Given the description of an element on the screen output the (x, y) to click on. 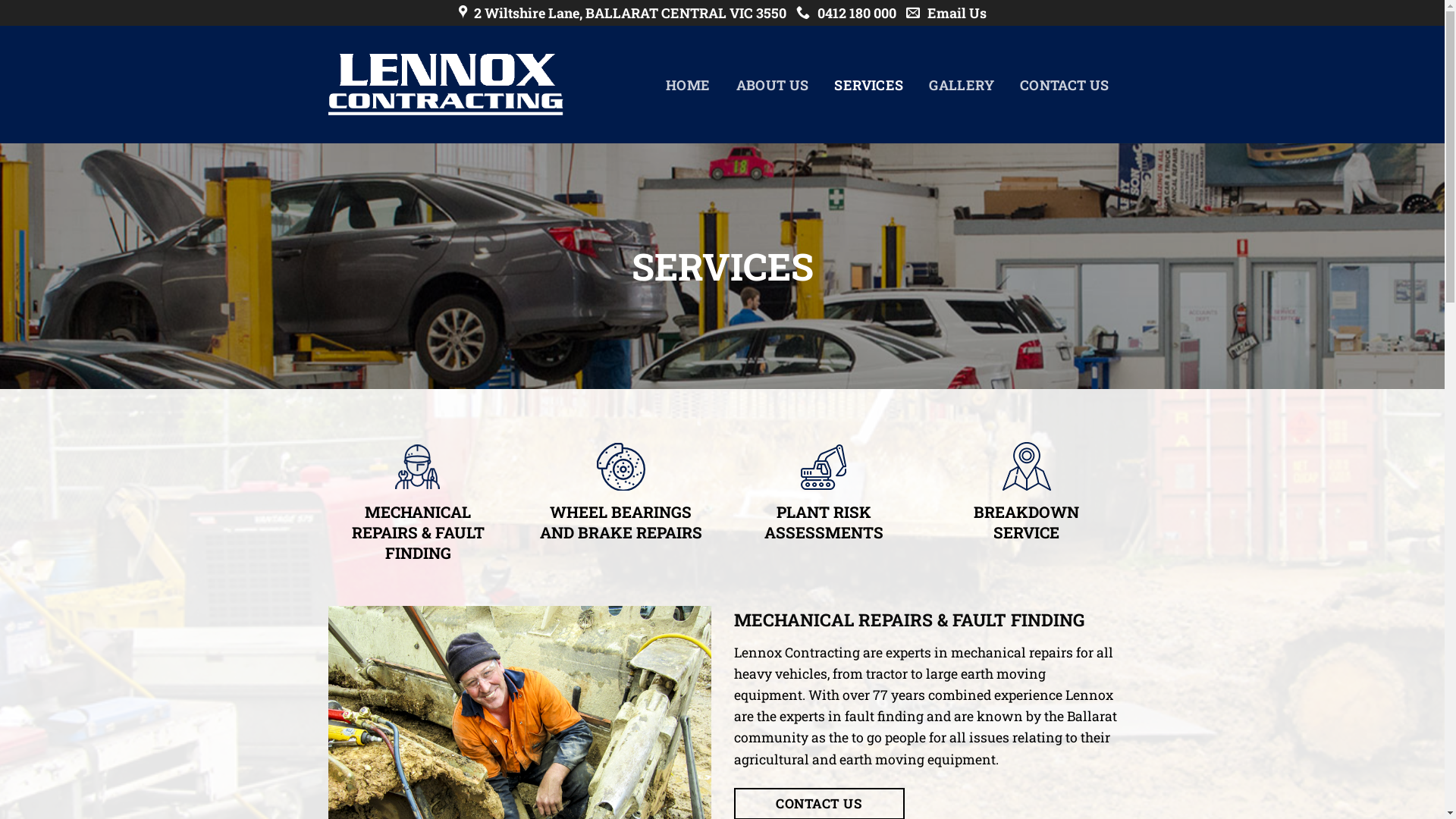
SERVICES Element type: text (868, 84)
MECHANICAL REPAIRS & FAULT FINDING Element type: text (417, 532)
CONTACT US Element type: text (1064, 84)
GALLERY Element type: text (961, 84)
2 Wiltshire Lane, BALLARAT CENTRAL VIC 3550 Element type: text (621, 12)
Skip to content Element type: text (0, 0)
BREAKDOWN SERVICE Element type: text (1026, 522)
PLANT RISK ASSESSMENTS Element type: text (823, 522)
Email Us Element type: text (945, 12)
Lennox Contracting Element type: hover (444, 84)
0412 180 000 Element type: text (846, 12)
ABOUT US Element type: text (772, 84)
HOME Element type: text (687, 84)
WHEEL BEARINGS AND BRAKE REPAIRS Element type: text (620, 522)
